Given the description of an element on the screen output the (x, y) to click on. 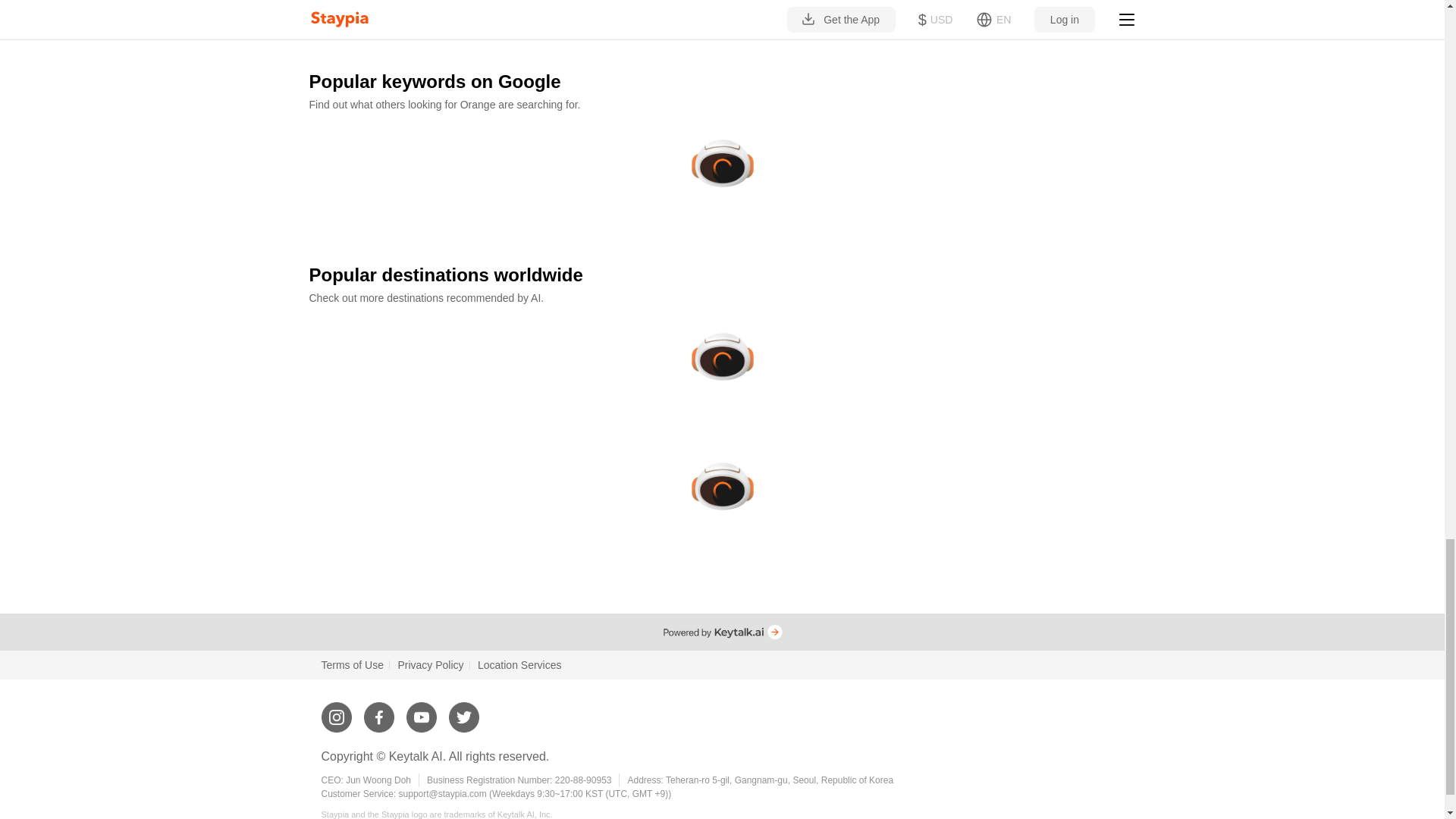
Terms of Use (352, 664)
twitter (463, 710)
instagram (336, 710)
youtube (421, 710)
Privacy Policy (430, 664)
Location Services (519, 664)
facebook (379, 710)
